Given the description of an element on the screen output the (x, y) to click on. 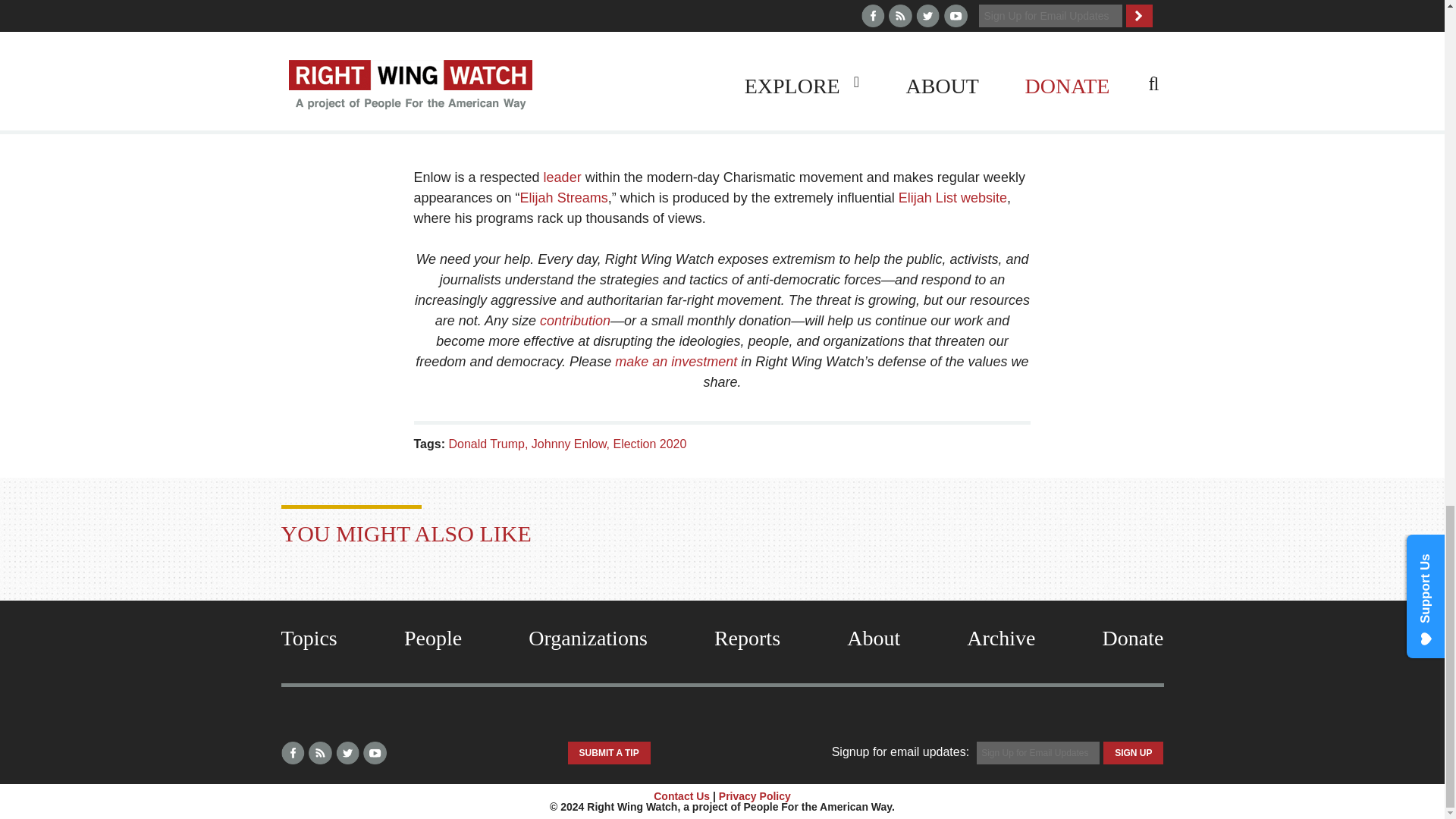
Elijah Streams (563, 197)
Elijah List website (952, 197)
leader (561, 177)
make an investment (675, 361)
Sign Up (1133, 753)
contribution (575, 320)
